Given the description of an element on the screen output the (x, y) to click on. 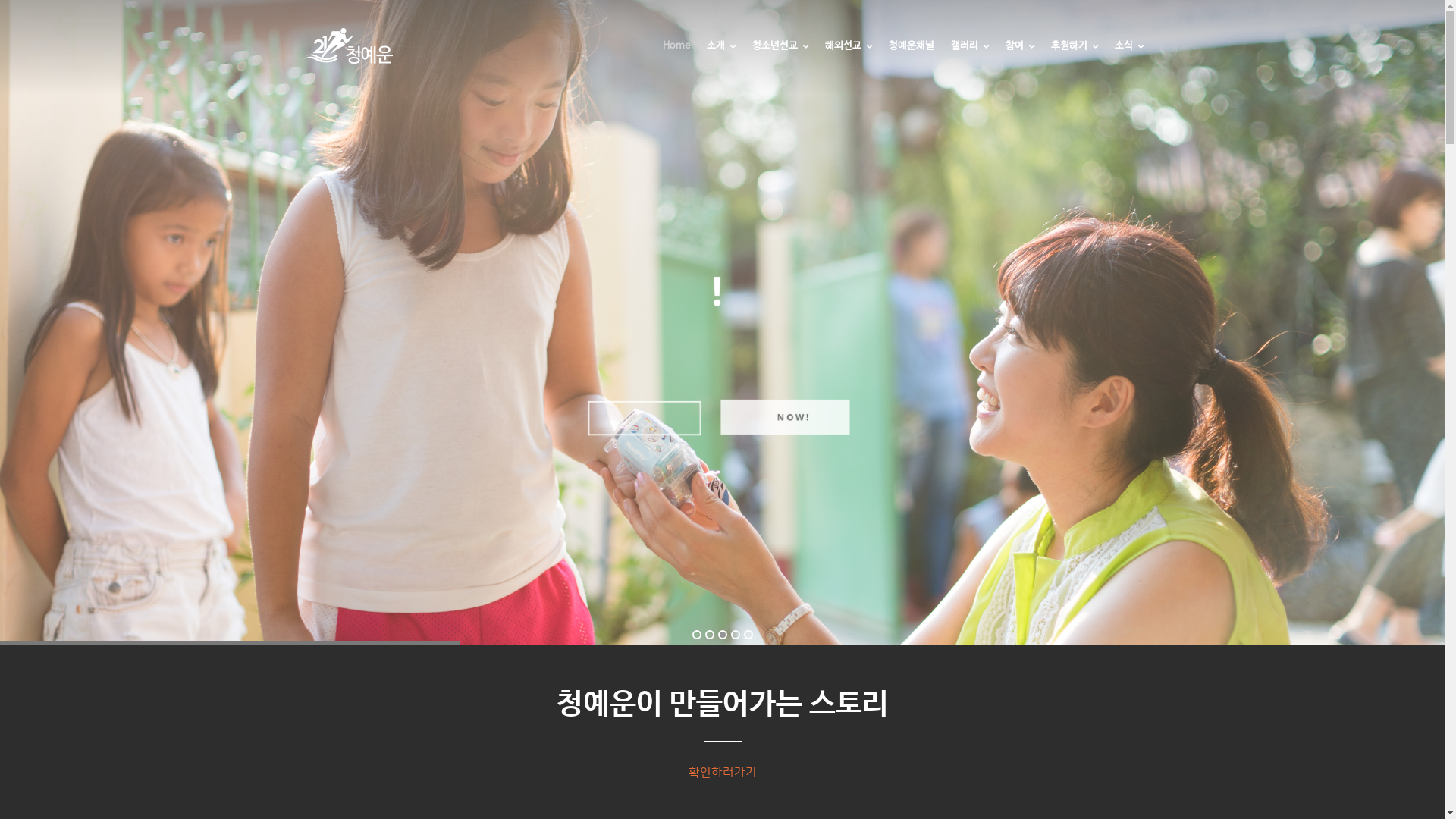
Home Element type: text (676, 57)
